Given the description of an element on the screen output the (x, y) to click on. 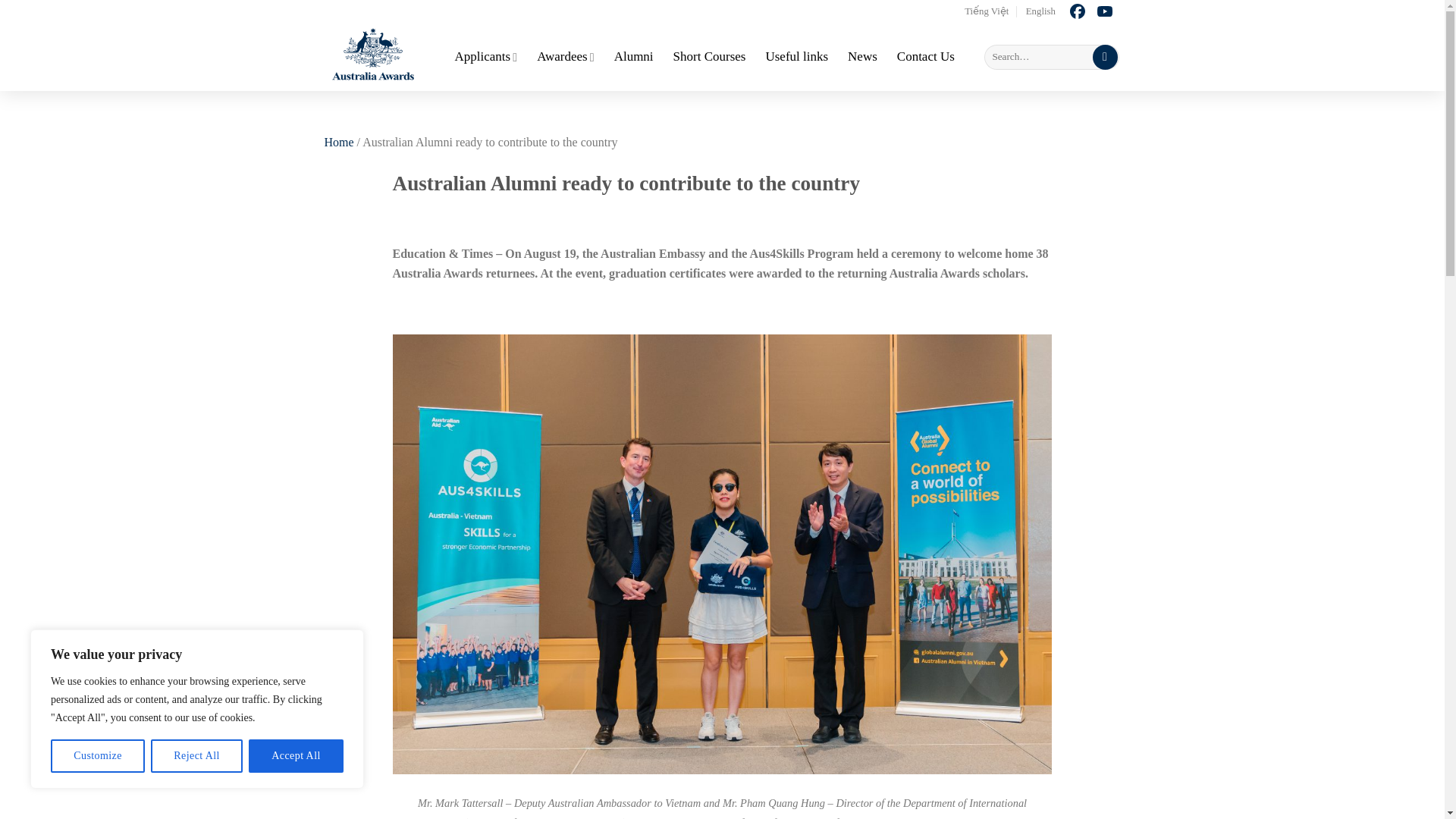
English (1040, 11)
Reject All (197, 756)
Australia Awards Vietnam - Home (378, 56)
Accept All (295, 756)
Applicants (486, 57)
Customize (97, 756)
Awardees (565, 57)
